Given the description of an element on the screen output the (x, y) to click on. 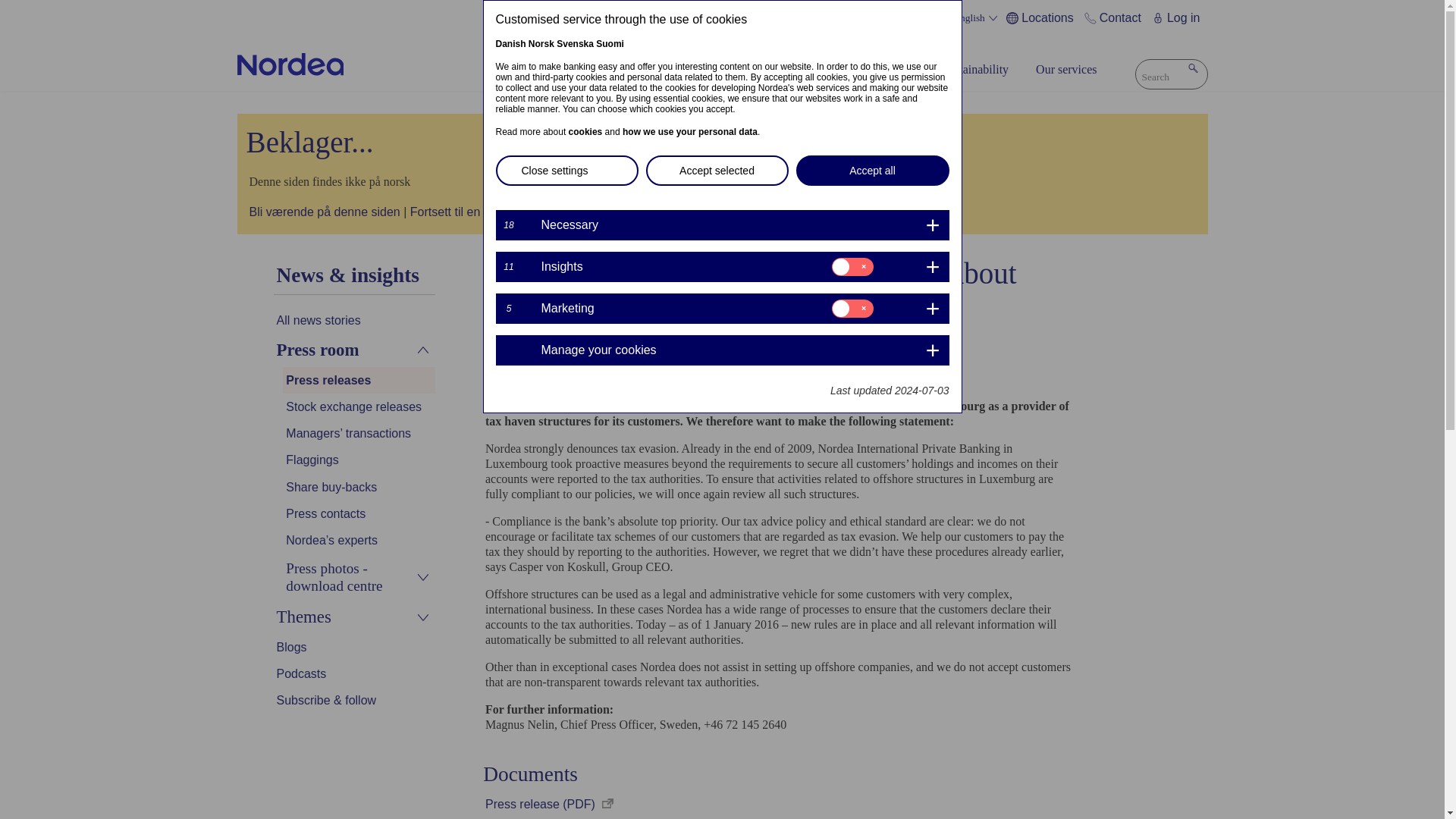
English (977, 18)
Skip to main content (721, 1)
Nordea (289, 64)
Log in (1178, 18)
Contact (1114, 18)
Locations (1042, 18)
